Given the description of an element on the screen output the (x, y) to click on. 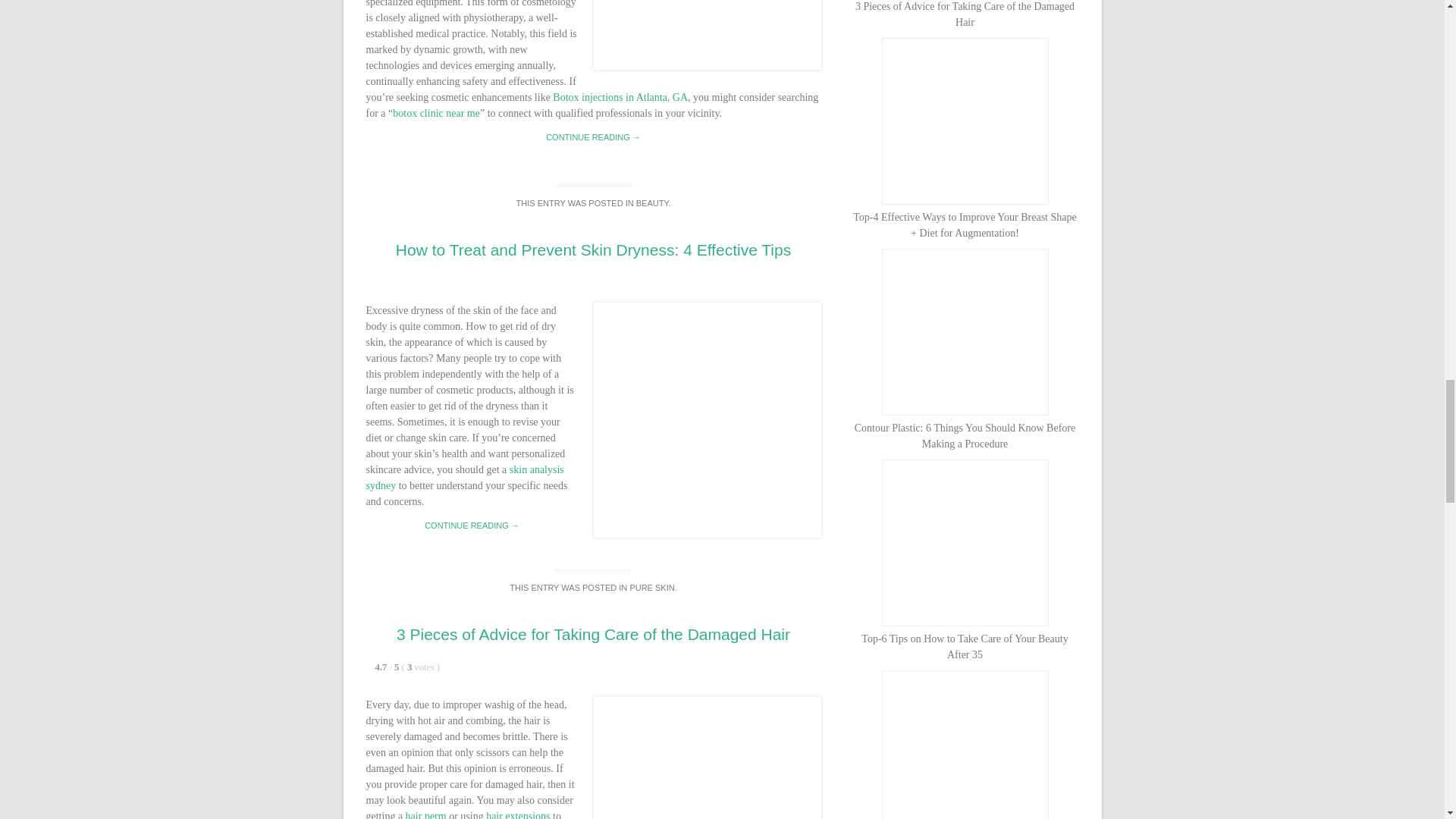
hair extensions (518, 814)
hair perm (426, 814)
3 Pieces of Advice for Taking Care of the Damaged Hair (593, 633)
BEAUTY (652, 203)
PURE SKIN (651, 587)
botox clinic near me (436, 112)
Botox injections in Atlanta, GA (620, 97)
skin analysis sydney (464, 477)
How to Treat and Prevent Skin Dryness: 4 Effective Tips (593, 249)
